Given the description of an element on the screen output the (x, y) to click on. 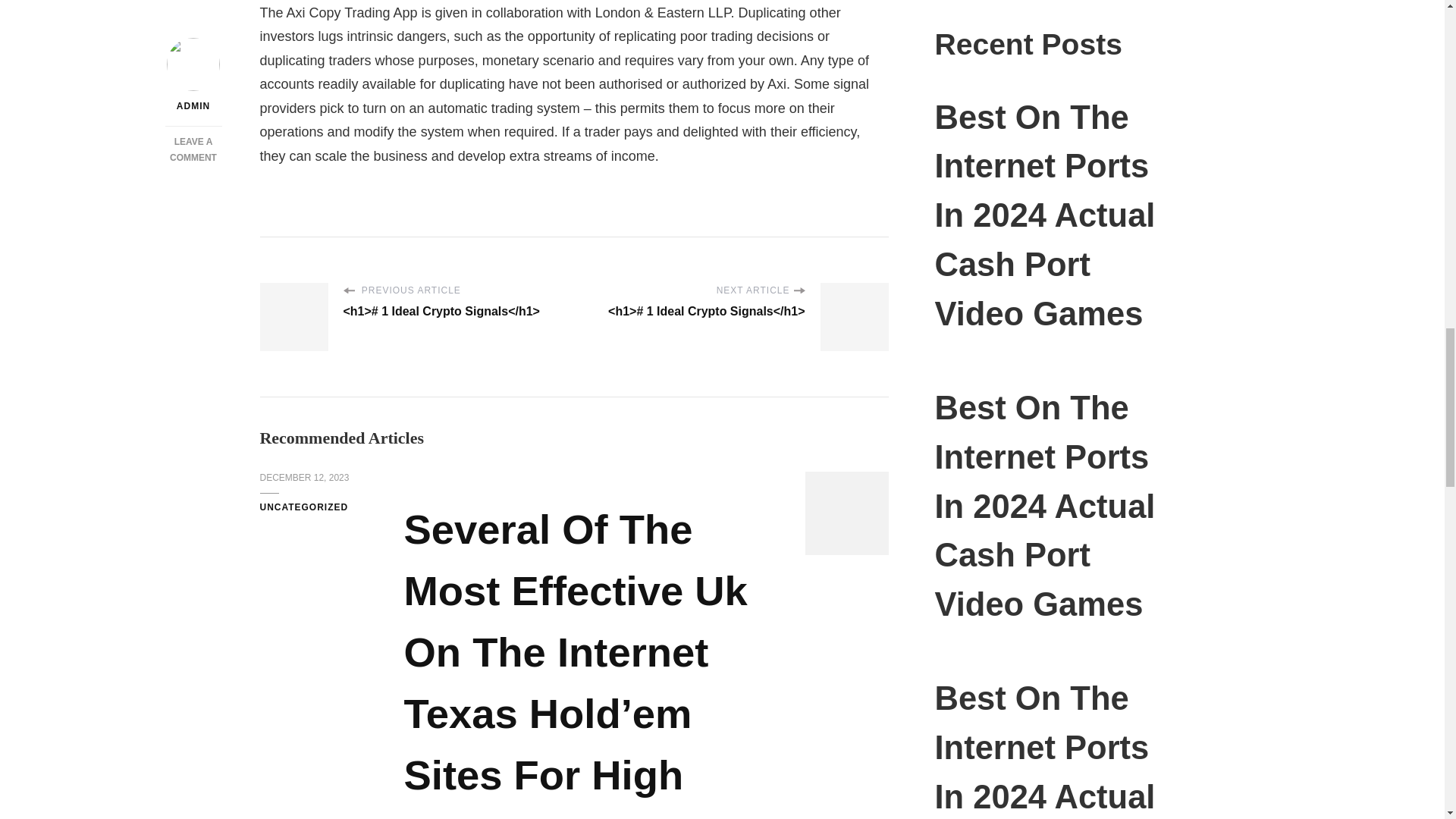
UNCATEGORIZED (303, 508)
DECEMBER 12, 2023 (304, 478)
